Given the description of an element on the screen output the (x, y) to click on. 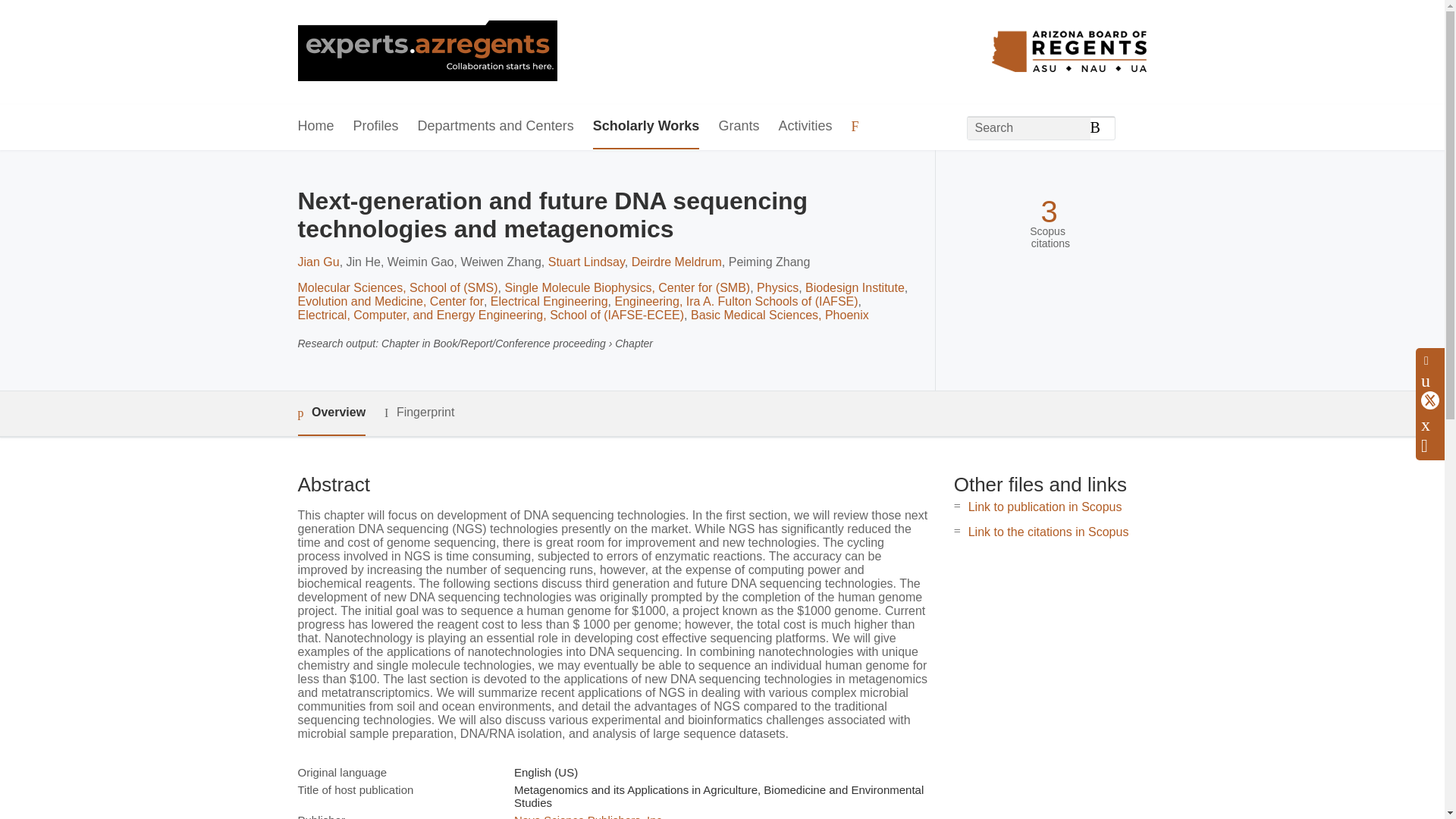
Activities (804, 126)
Scholarly Works (646, 126)
Jian Gu (318, 261)
Link to the citations in Scopus (1048, 531)
Departments and Centers (495, 126)
Basic Medical Sciences, Phoenix (779, 314)
Electrical Engineering (549, 300)
Deirdre Meldrum (676, 261)
Nova Science Publishers, Inc. (589, 816)
